Given the description of an element on the screen output the (x, y) to click on. 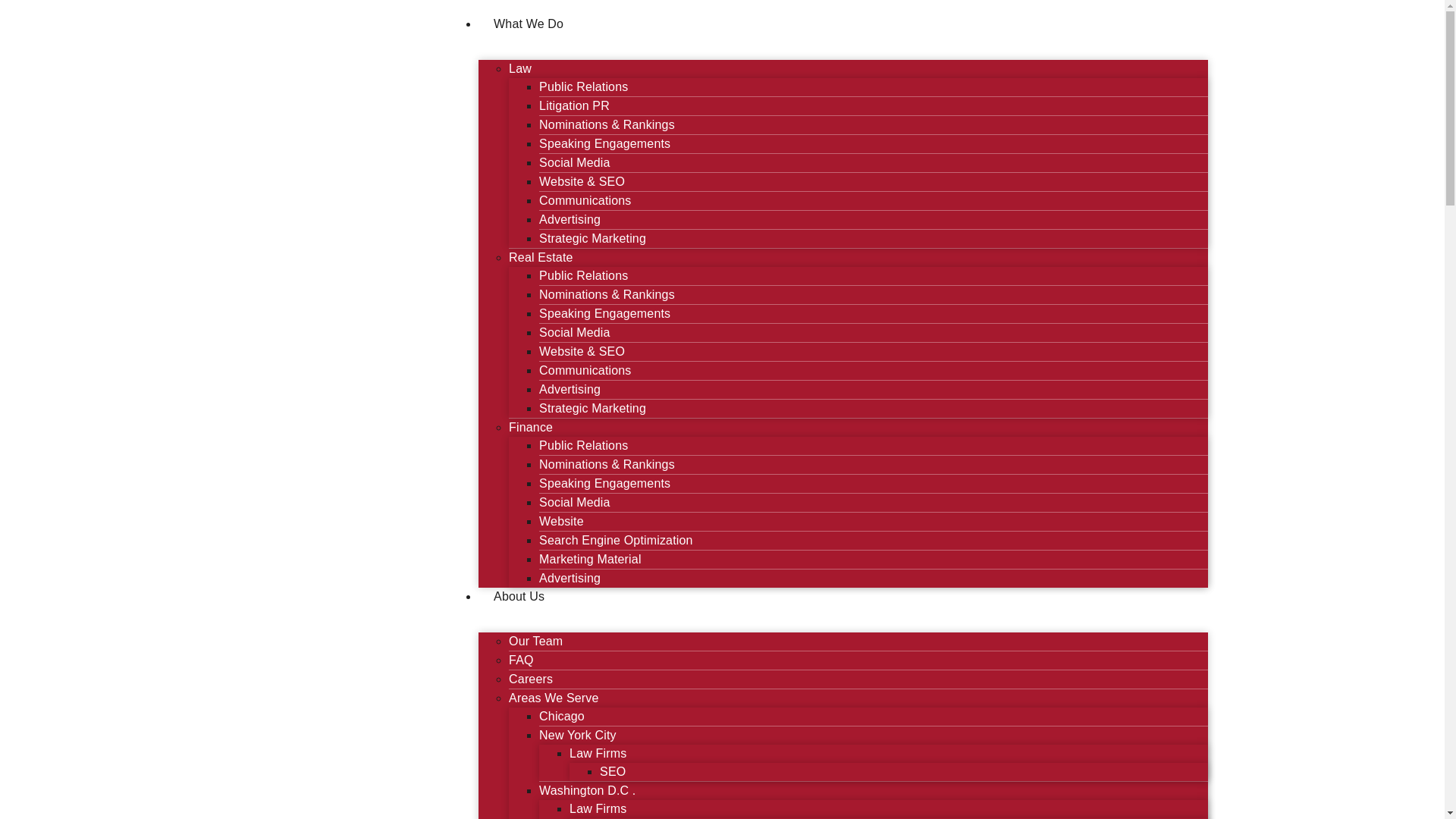
Speaking Engagements (603, 143)
Litigation PR (574, 105)
Speaking Engagements (603, 313)
Communications (584, 200)
Careers (530, 678)
New York City (576, 735)
About Us (519, 595)
Advertising (568, 389)
FAQ (521, 659)
Public Relations (582, 275)
Speaking Engagements (603, 482)
Public Relations (582, 445)
Law Firms (597, 753)
Finance (530, 427)
Public Relations (582, 86)
